Given the description of an element on the screen output the (x, y) to click on. 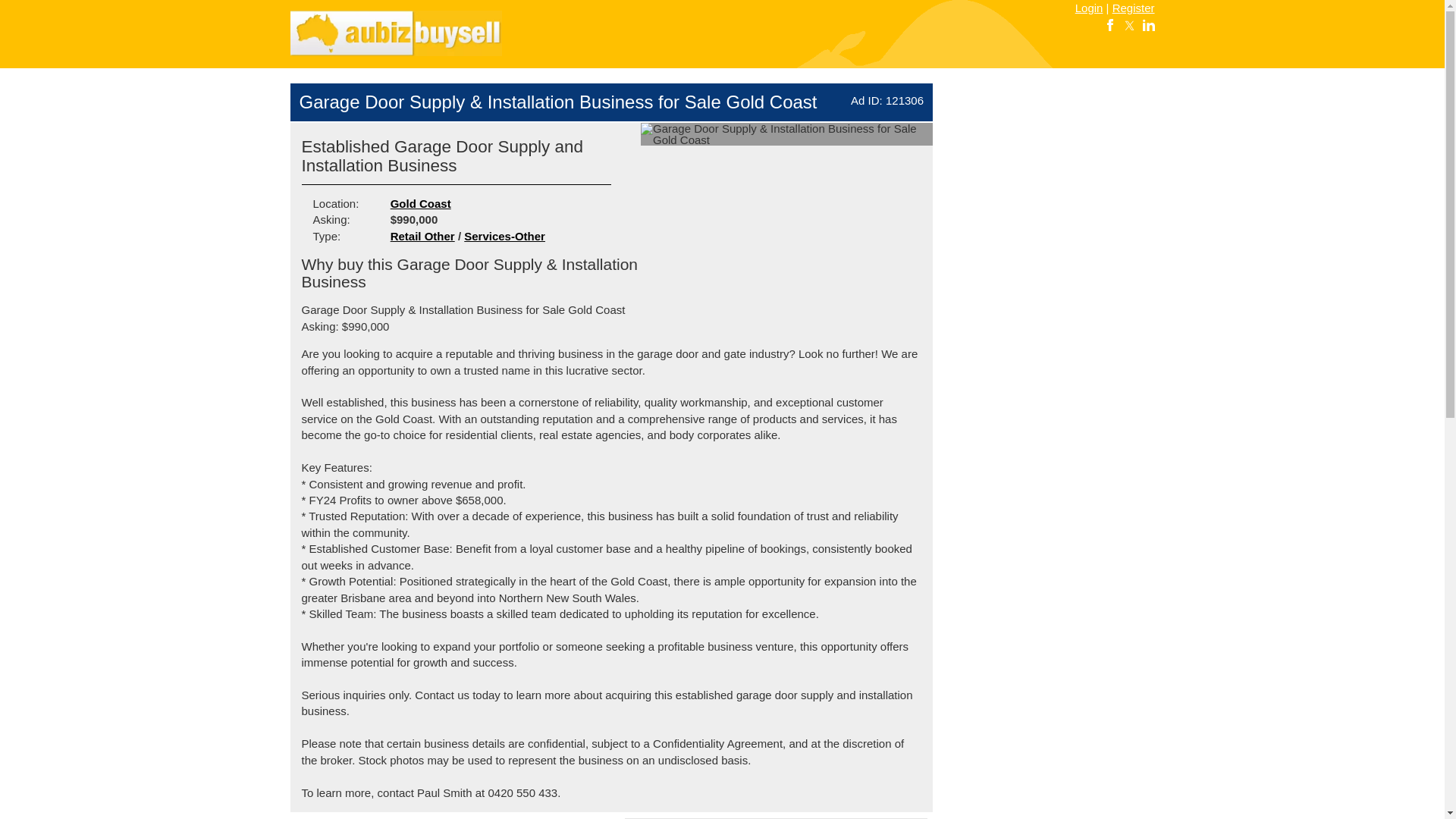
Gold Coast (420, 203)
Follow us on Twitter (1128, 24)
Retail Other (422, 236)
Follow us on Facebook (1109, 24)
Register (1133, 7)
Follow us on LinkedIn (1147, 24)
Login (1089, 7)
Services-Other (504, 236)
